Given the description of an element on the screen output the (x, y) to click on. 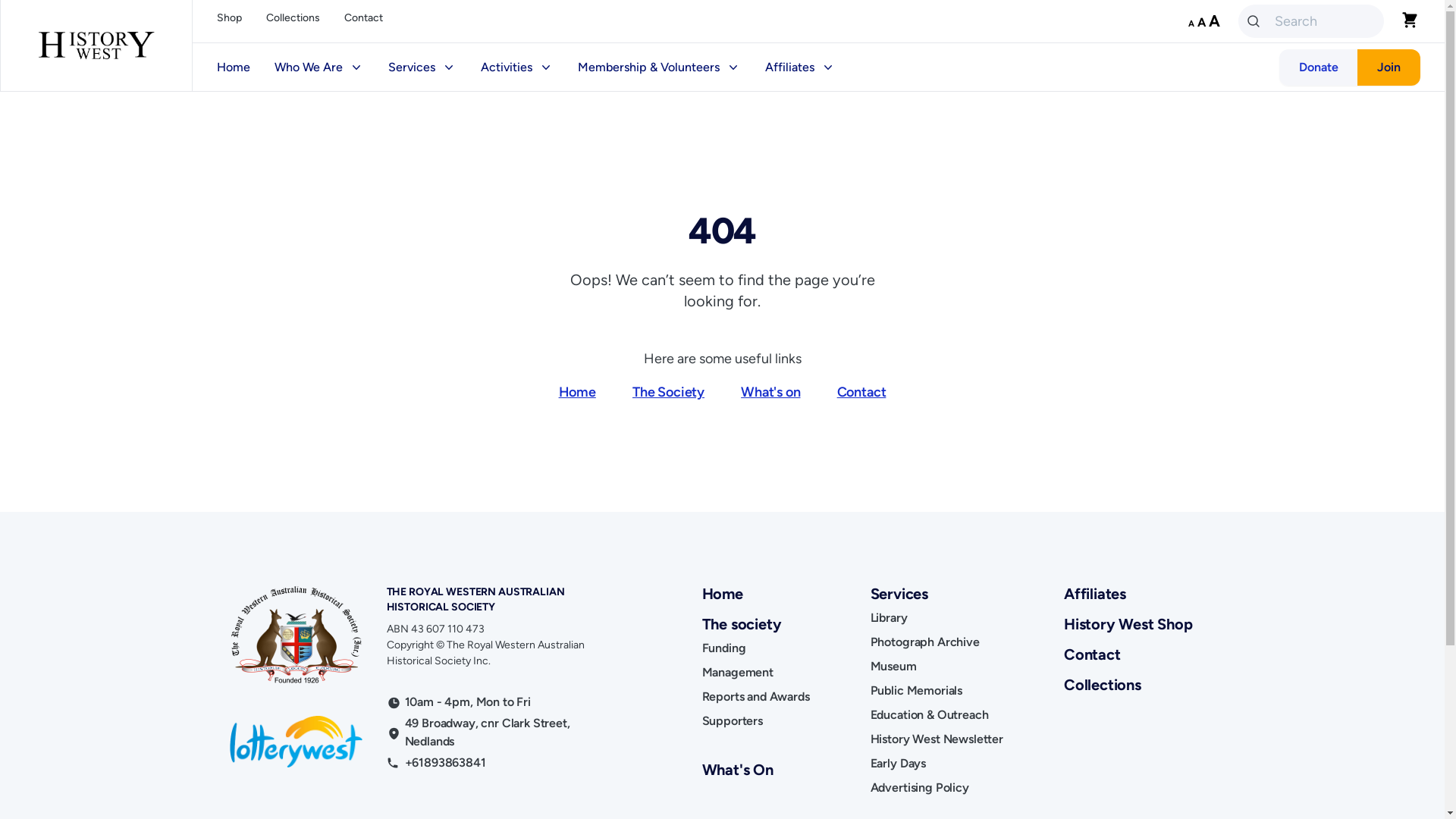
Collections Element type: text (1102, 684)
Advertising Policy Element type: text (919, 787)
Activities Element type: text (516, 67)
Affiliates Element type: text (1094, 593)
Affiliates Element type: text (800, 67)
Museum Element type: text (893, 666)
Reports and Awards Element type: text (755, 696)
A
Increase font size. Element type: text (1214, 20)
Shop Element type: text (228, 20)
History West Newsletter Element type: text (936, 739)
The society Element type: text (755, 624)
A
Decrease font size. Element type: text (1191, 23)
Funding Element type: text (724, 648)
Home Element type: text (722, 593)
Home Element type: text (577, 391)
Contact Element type: text (363, 20)
Contact Element type: text (861, 391)
History West Shop Element type: text (1127, 624)
Royal West Australian History Society Element type: text (96, 45)
Membership & Volunteers Element type: text (658, 67)
Donate Element type: text (1318, 66)
Management Element type: text (737, 672)
Collections Element type: text (293, 20)
Services Element type: text (936, 593)
Public Memorials Element type: text (916, 690)
Early Days Element type: text (897, 763)
Home Element type: text (233, 67)
What's on Element type: text (770, 391)
Supporters Element type: text (732, 721)
A
Reset font size. Element type: text (1201, 22)
THE ROYAL WESTERN AUSTRALIAN HISTORICAL SOCIETY Element type: text (475, 599)
Join Element type: text (1388, 66)
Contact Element type: text (1091, 654)
Services Element type: text (422, 67)
Photograph Archive Element type: text (924, 642)
Library Element type: text (888, 617)
+61893863841 Element type: text (445, 762)
What's On Element type: text (737, 769)
Who We Are Element type: text (319, 67)
The Society Element type: text (668, 391)
Education & Outreach Element type: text (929, 715)
